Given the description of an element on the screen output the (x, y) to click on. 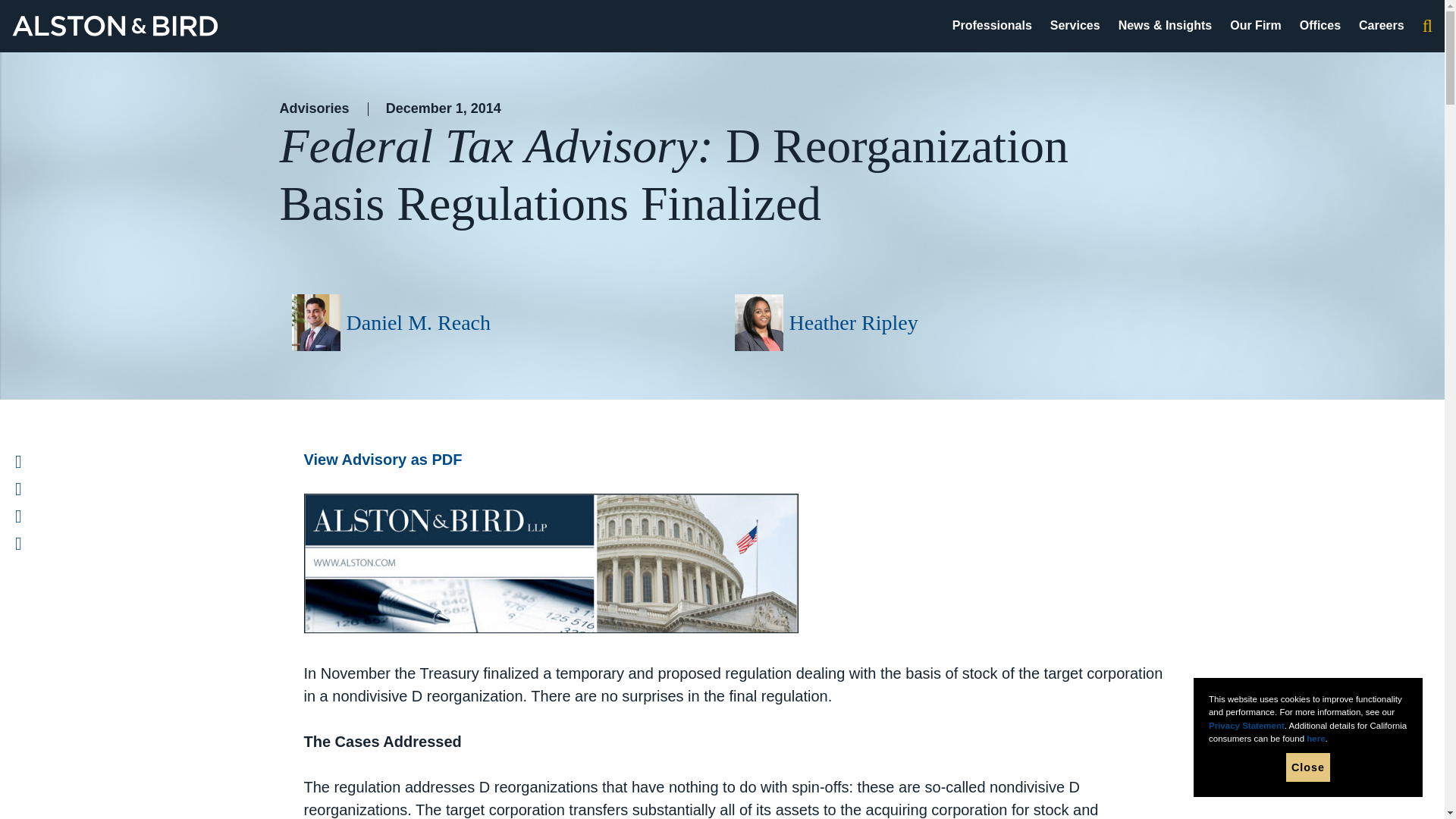
Daniel M. Reach (418, 322)
Services (1074, 24)
Careers (1381, 24)
Our Firm (1255, 24)
Heather Ripley (853, 322)
Professionals (992, 24)
Offices (1320, 24)
Close (1307, 767)
View Advisory as PDF (381, 459)
